Given the description of an element on the screen output the (x, y) to click on. 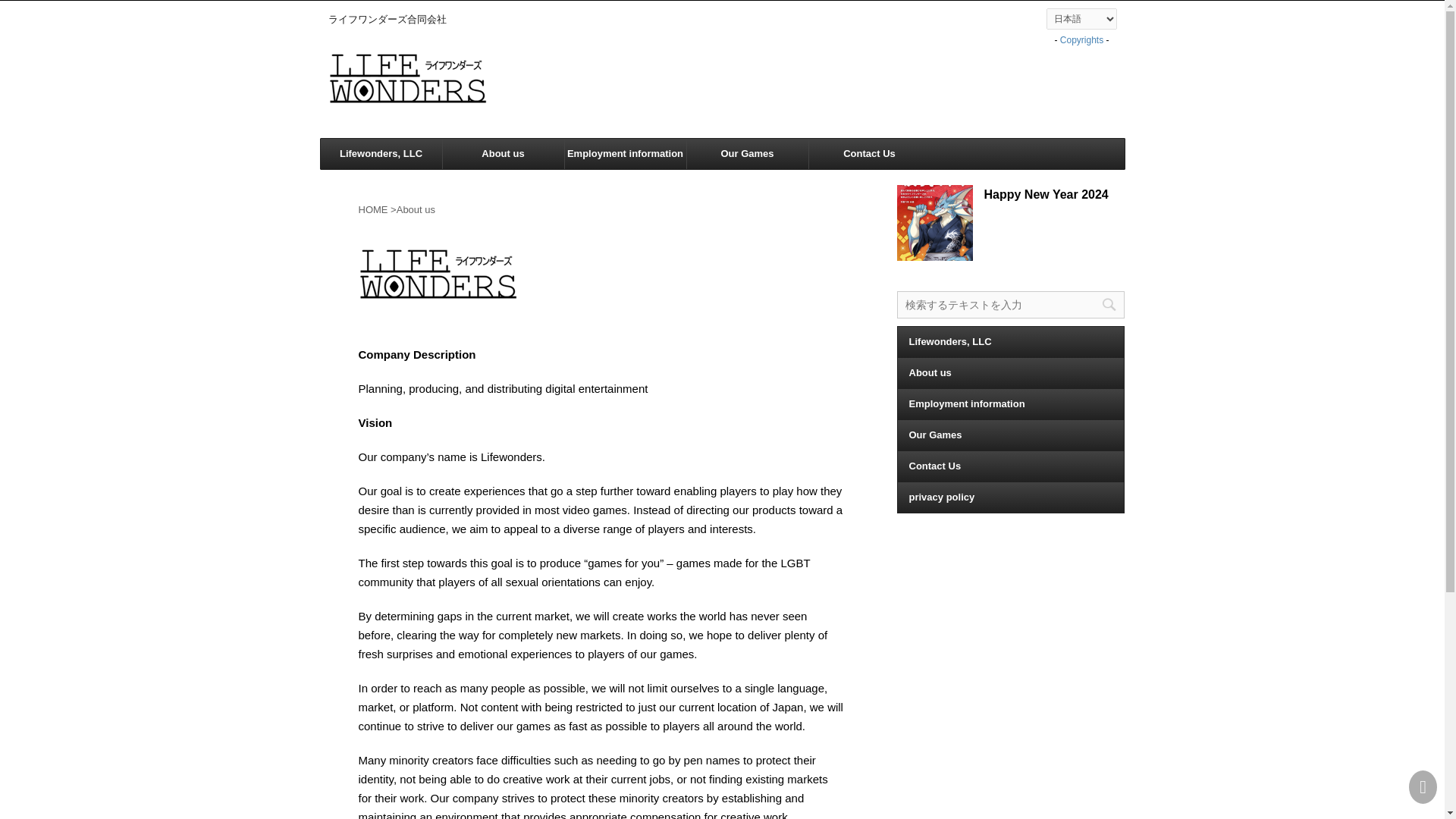
Our Games (747, 153)
About us (1011, 372)
Lifewonders, LLC (1011, 340)
Copyrights (1081, 40)
Contact Us (869, 153)
Our Games (1011, 435)
Happy New Year 2024 (1046, 194)
Employment information (624, 153)
Employment information (1011, 403)
About us (503, 153)
